Given the description of an element on the screen output the (x, y) to click on. 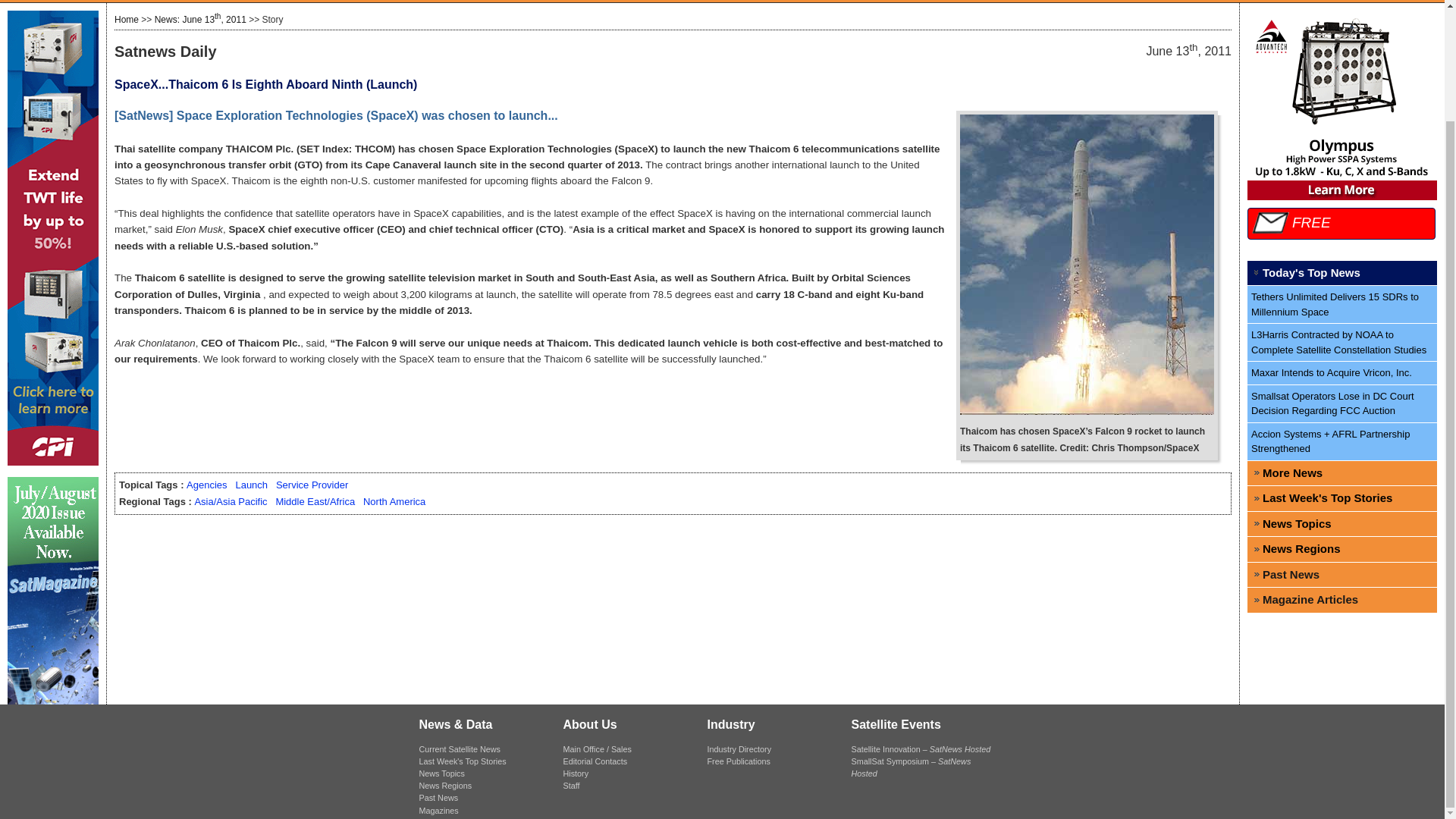
Home (126, 19)
Agencies (206, 484)
North America (393, 501)
Launch (250, 484)
Tethers Unlimited Delivers 15 SDRs to Millennium Space (1342, 304)
Maxar Intends to Acquire Vricon, Inc. (1342, 372)
News: June 13th, 2011 (200, 19)
Service Provider (311, 484)
